Given the description of an element on the screen output the (x, y) to click on. 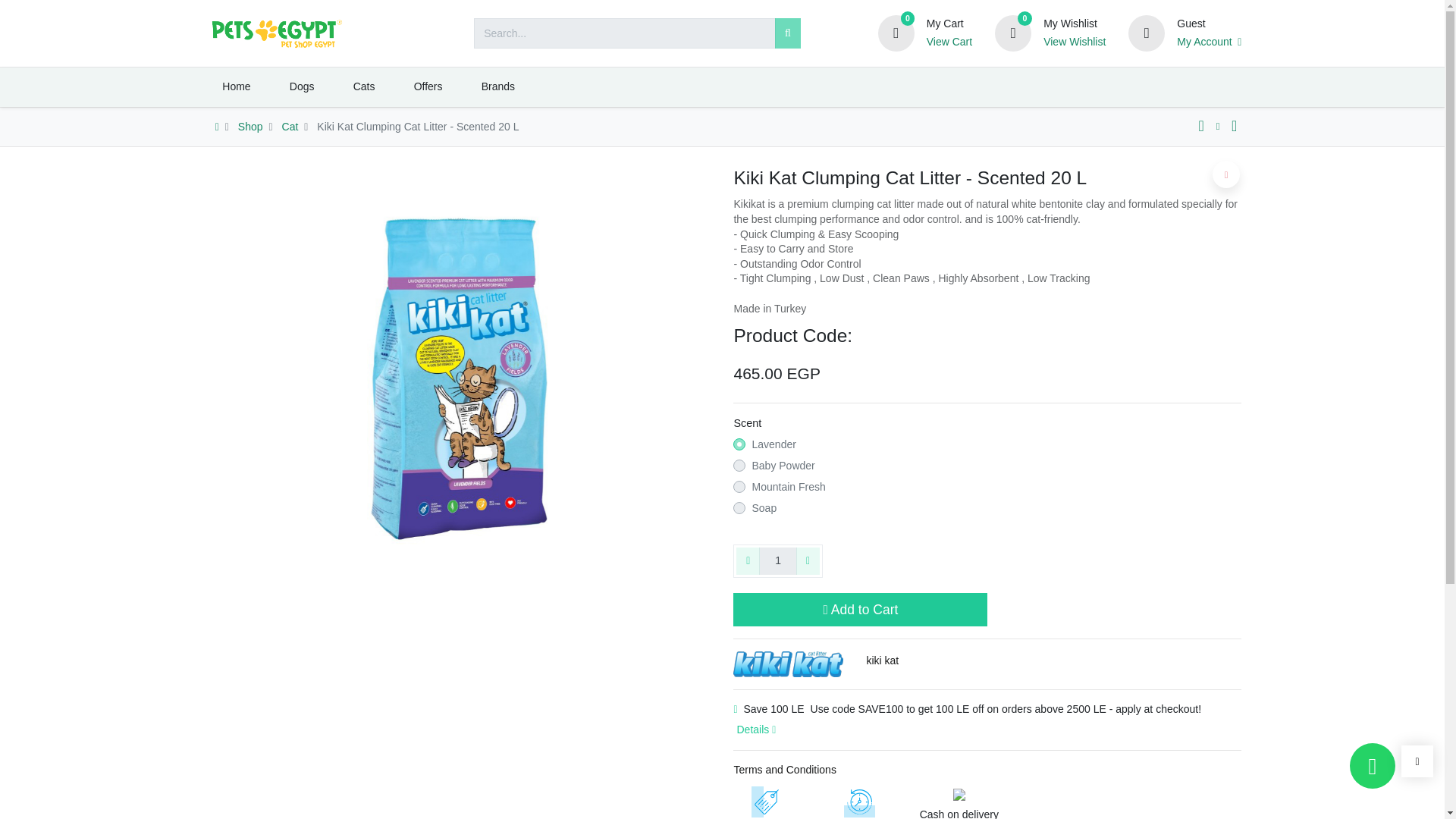
My Account (1208, 42)
0 (895, 32)
View Wishlist (1074, 42)
1 (777, 560)
Brands (497, 87)
View Cart (949, 42)
Cats (363, 87)
Add to Cart (860, 609)
Scroll back to top (1416, 761)
Shop (250, 126)
Cat (290, 126)
Offers (427, 87)
Dogs (301, 87)
PetsEgypt.com (276, 33)
Home (236, 87)
